Given the description of an element on the screen output the (x, y) to click on. 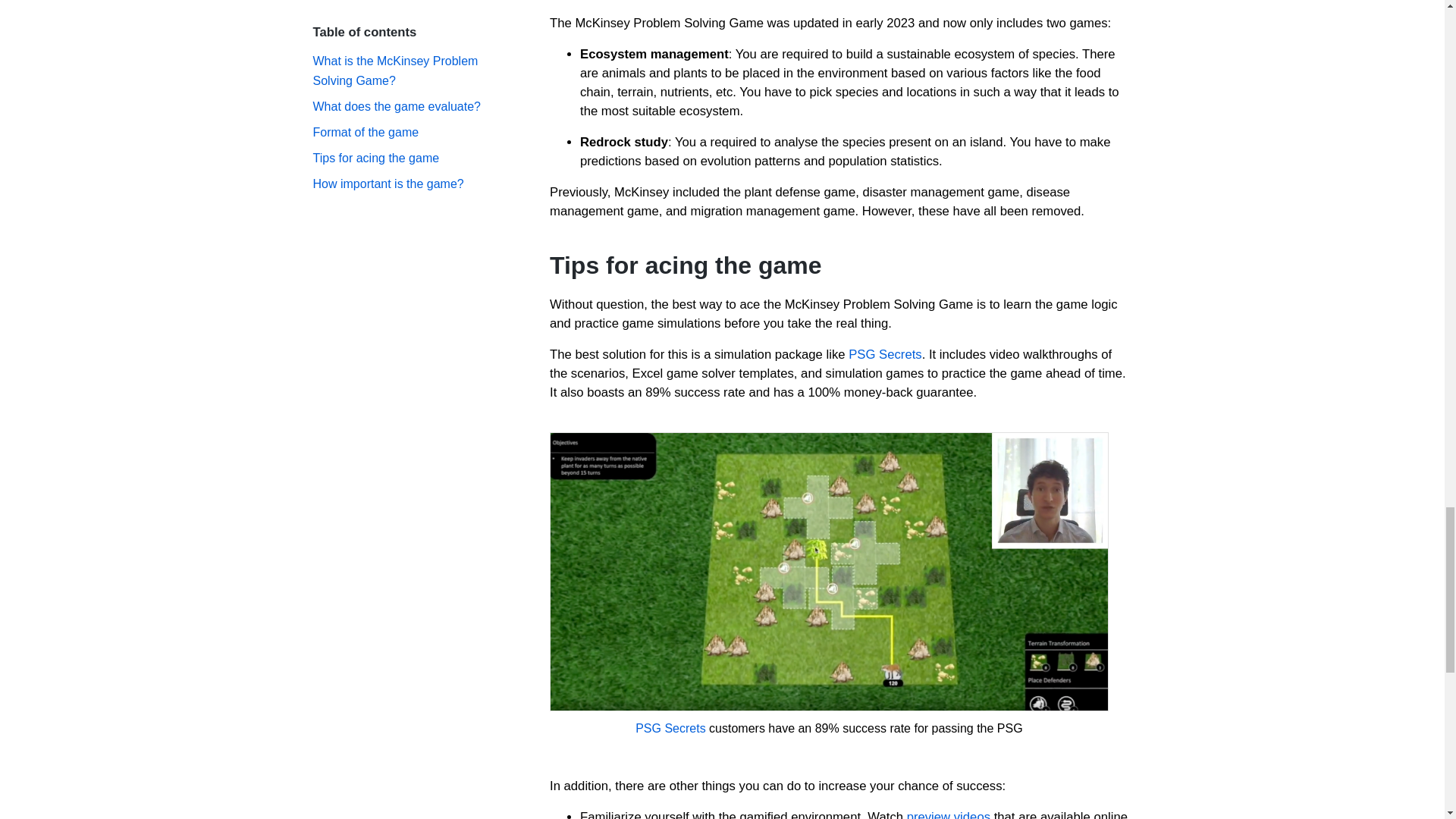
PSG Secrets (884, 354)
PSG Secrets (669, 727)
preview videos (948, 814)
